Given the description of an element on the screen output the (x, y) to click on. 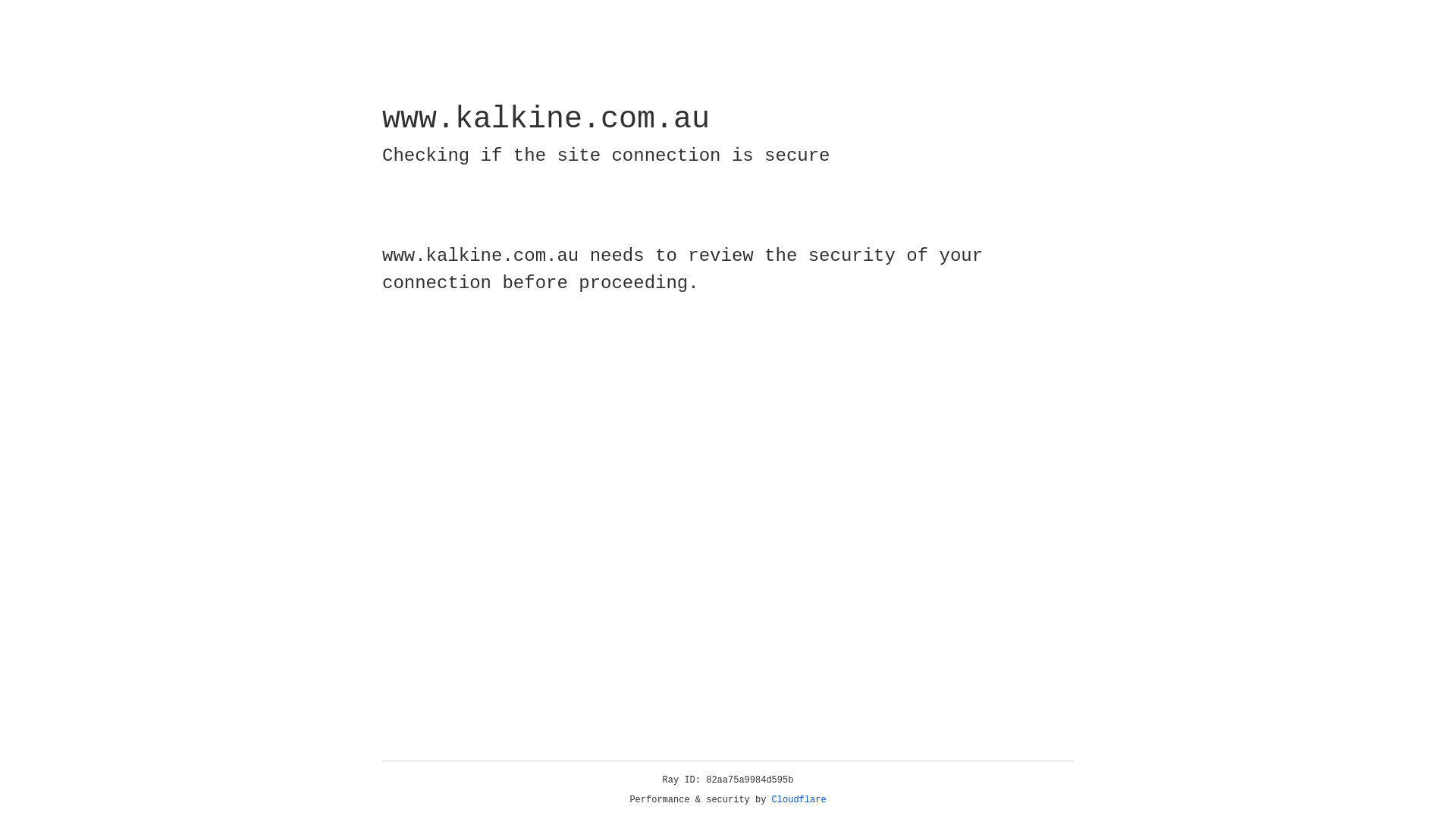
Cloudflare Element type: text (798, 799)
